Given the description of an element on the screen output the (x, y) to click on. 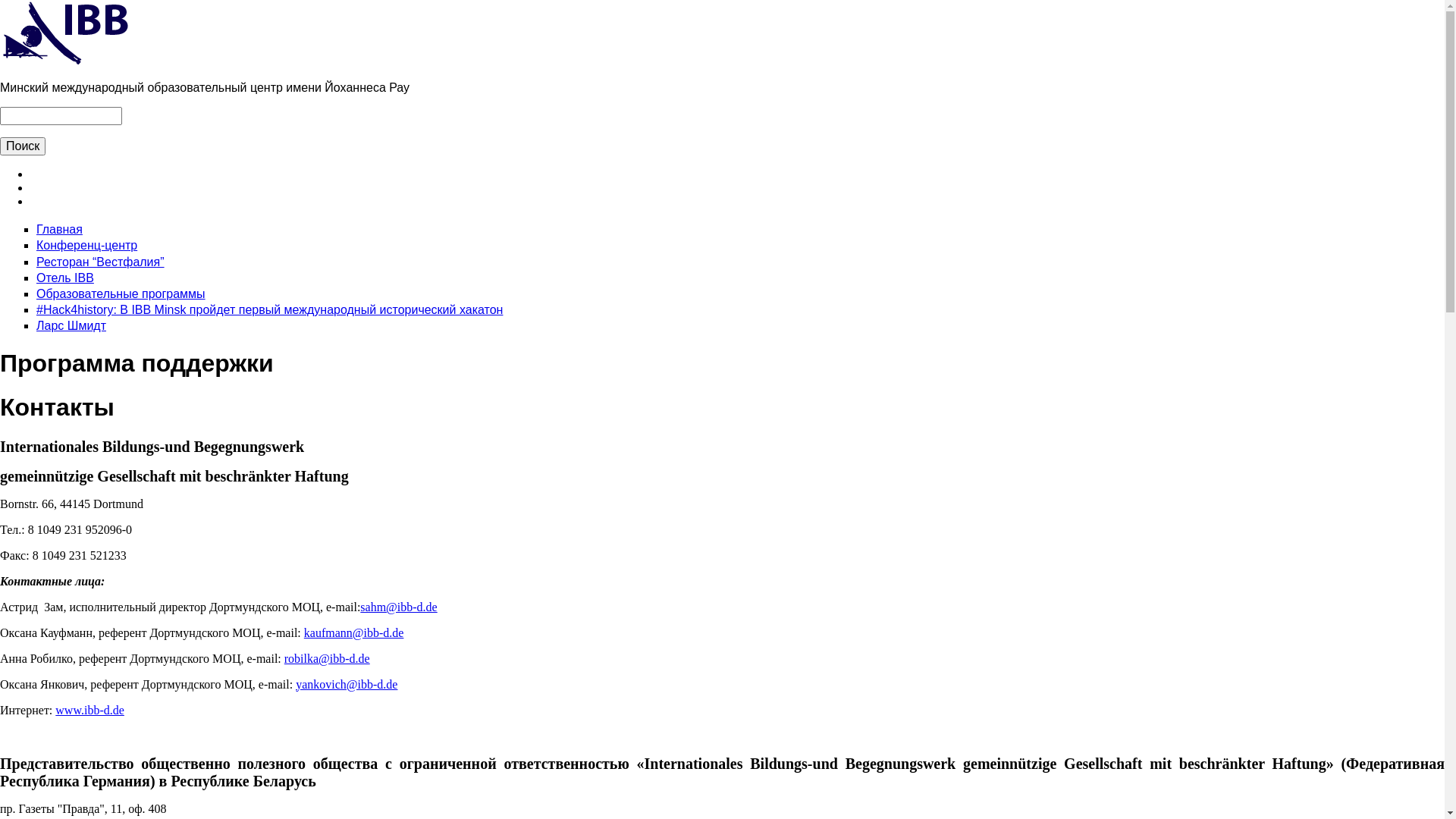
www.ibb-d.de Element type: text (89, 709)
robilka@ibb-d.de Element type: text (327, 658)
sahm@ibb-d.de Element type: text (398, 606)
kaufmann@ibb-d.de Element type: text (354, 632)
yankovich@ibb-d.de Element type: text (346, 683)
